Given the description of an element on the screen output the (x, y) to click on. 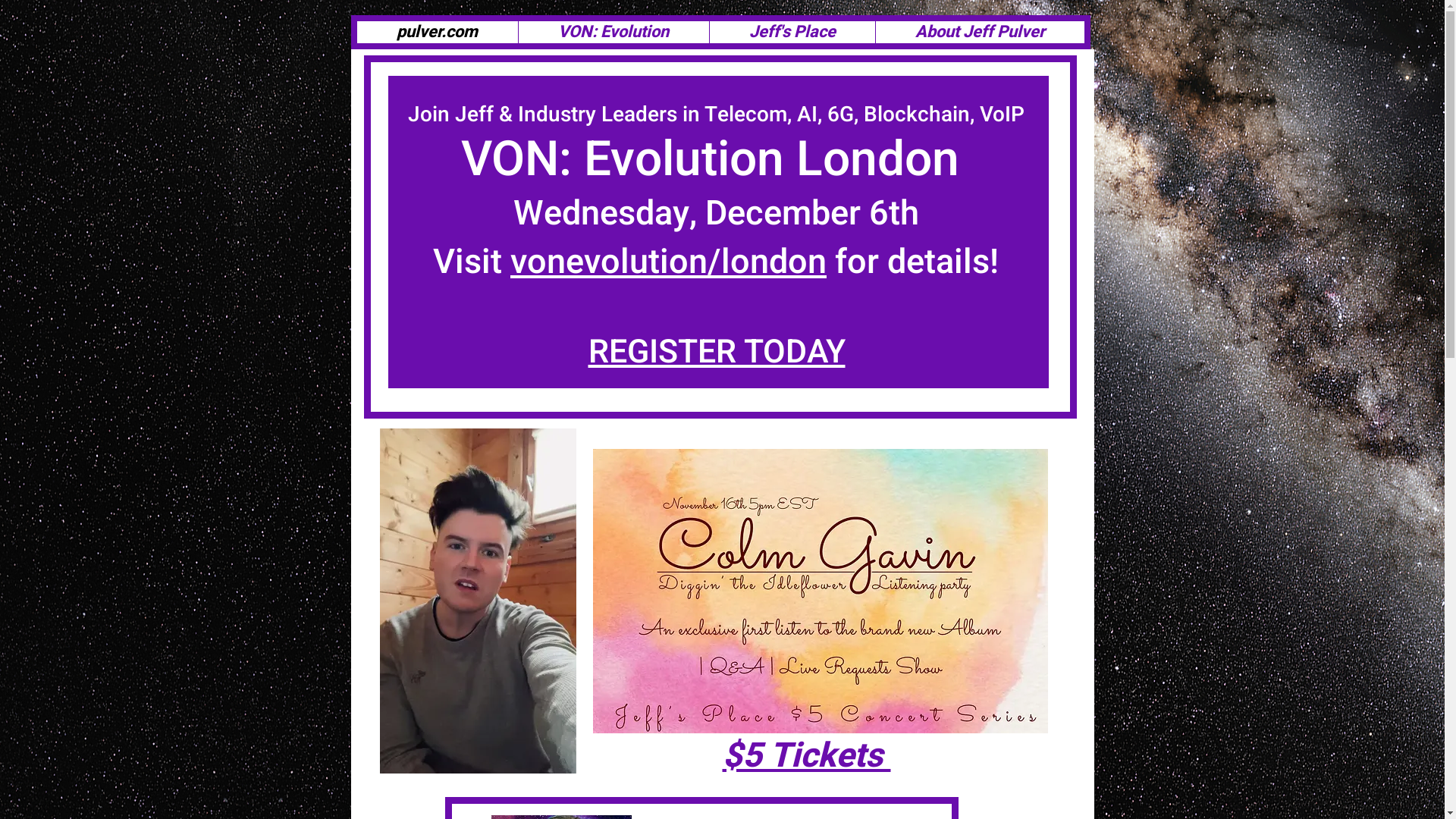
VON: Evolution Element type: text (612, 32)
$5 Tickets  Element type: text (805, 756)
IMG-20231104-WA0007.jpg Element type: hover (820, 590)
vonevolution/london Element type: text (668, 262)
Jeff's Place Element type: text (791, 32)
REGISTER TODAY Element type: text (716, 352)
pulver.com Element type: text (436, 32)
About Jeff Pulver Element type: text (979, 32)
